Given the description of an element on the screen output the (x, y) to click on. 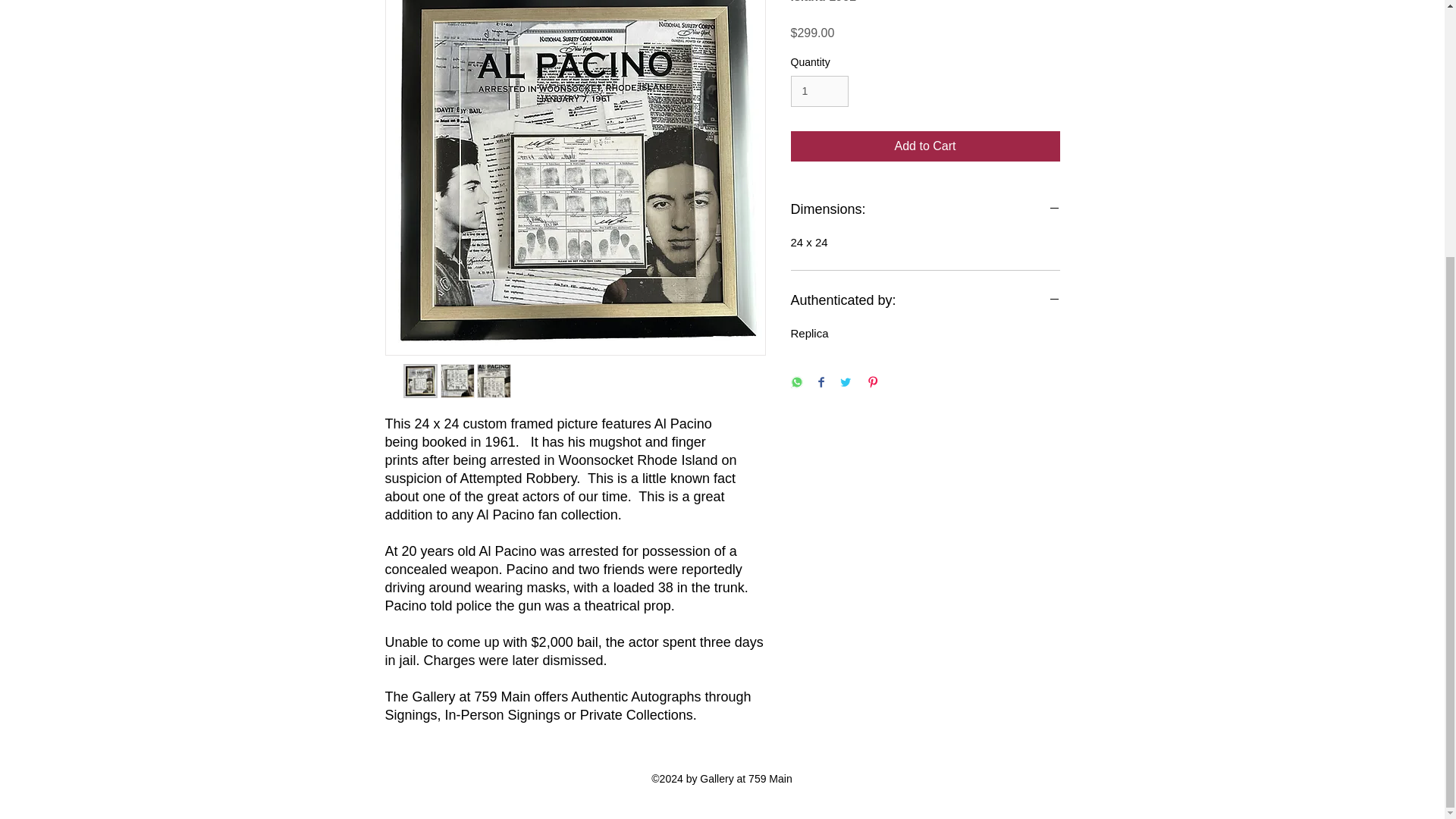
Authenticated by: (924, 300)
1 (818, 91)
Add to Cart (924, 146)
Dimensions: (924, 209)
